Given the description of an element on the screen output the (x, y) to click on. 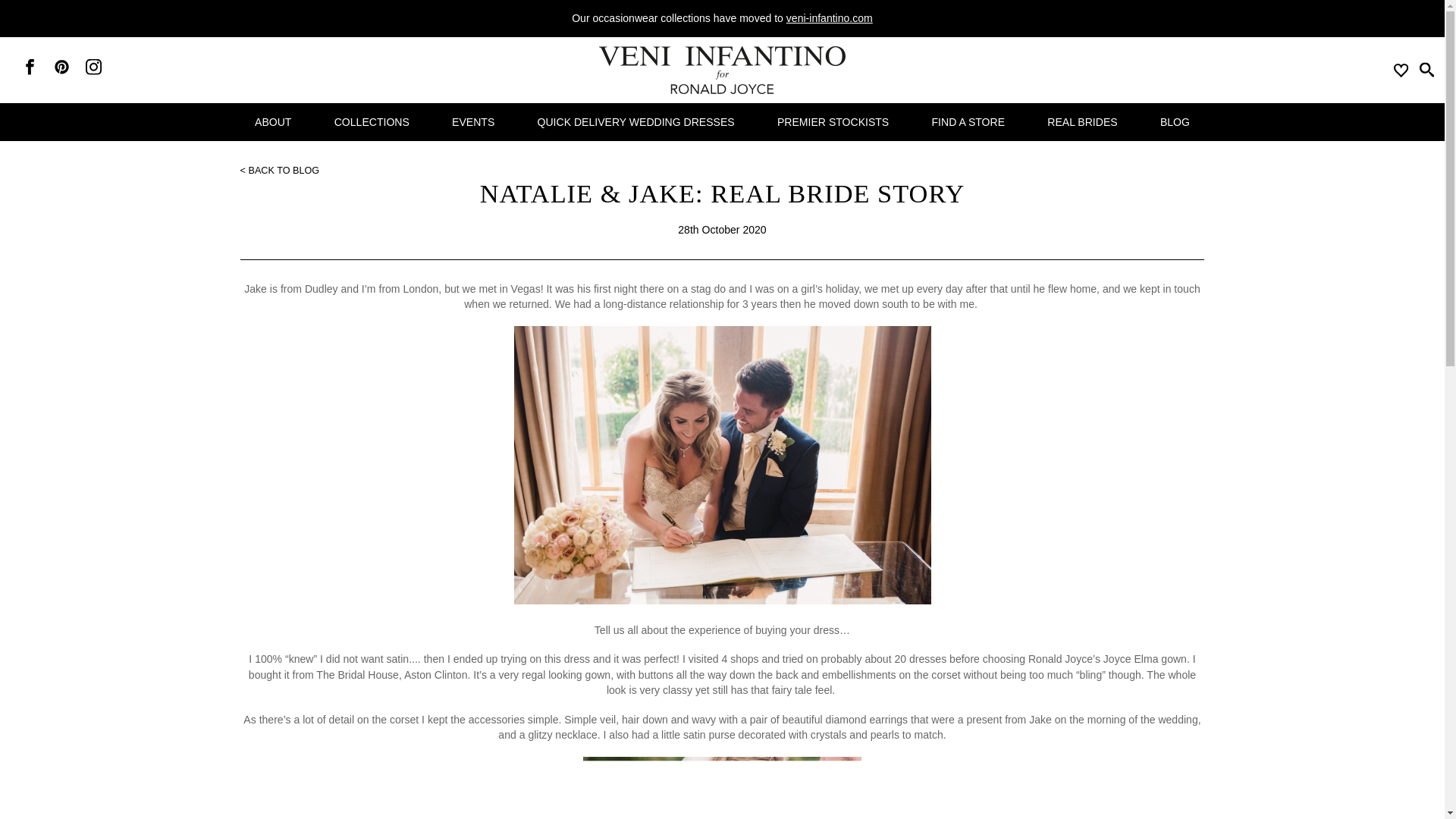
COLLECTIONS (371, 121)
BLOG (1174, 121)
FIND A STORE (968, 121)
EVENTS (472, 121)
PREMIER STOCKISTS (833, 121)
veni-infantino.com (829, 18)
ABOUT (272, 121)
REAL BRIDES (1082, 121)
QUICK DELIVERY WEDDING DRESSES (635, 121)
